Given the description of an element on the screen output the (x, y) to click on. 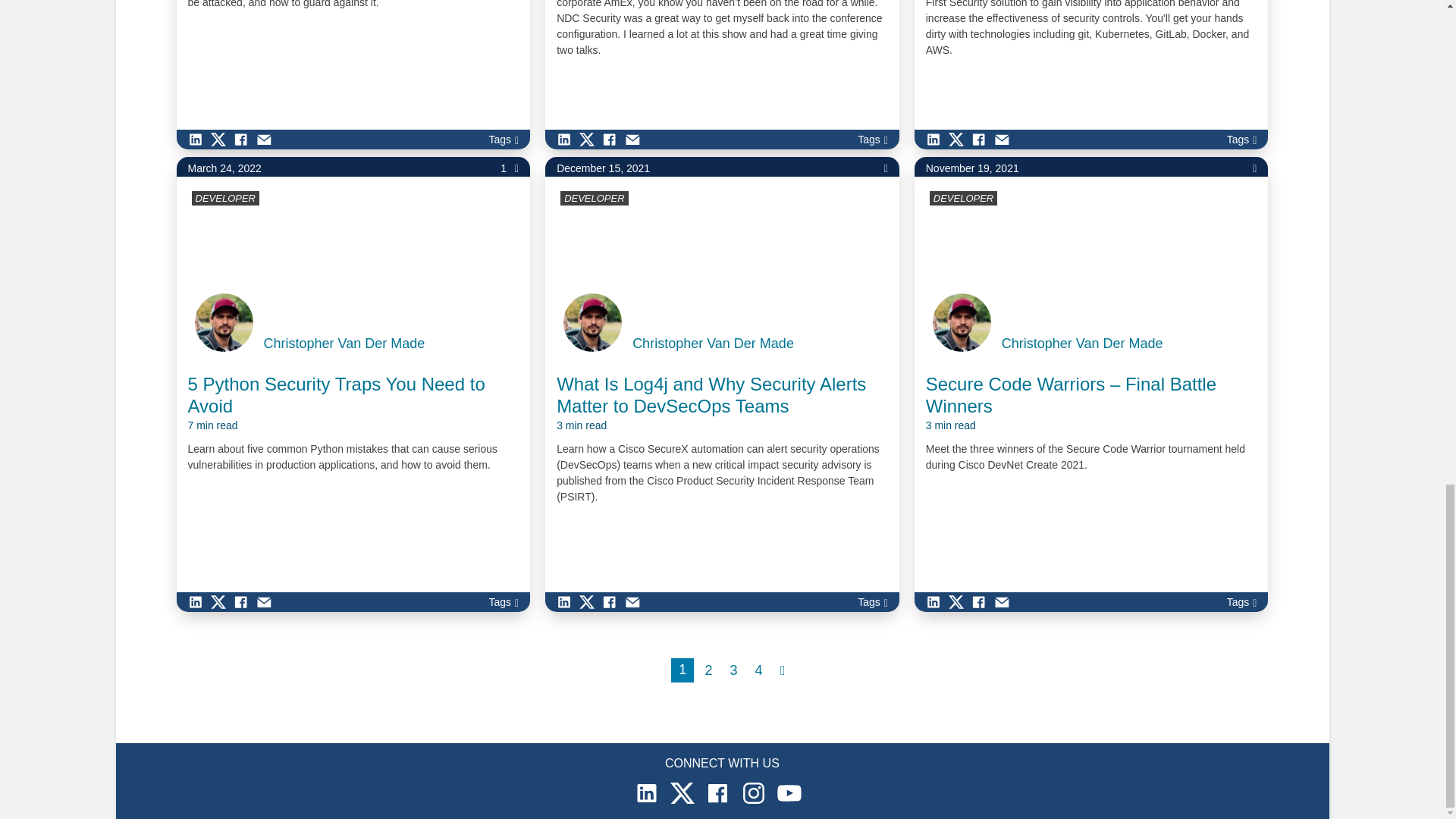
Posts by Christopher Van Der Made (712, 343)
Posts by Christopher Van Der Made (344, 343)
Posts by Christopher Van Der Made (1082, 343)
